Given the description of an element on the screen output the (x, y) to click on. 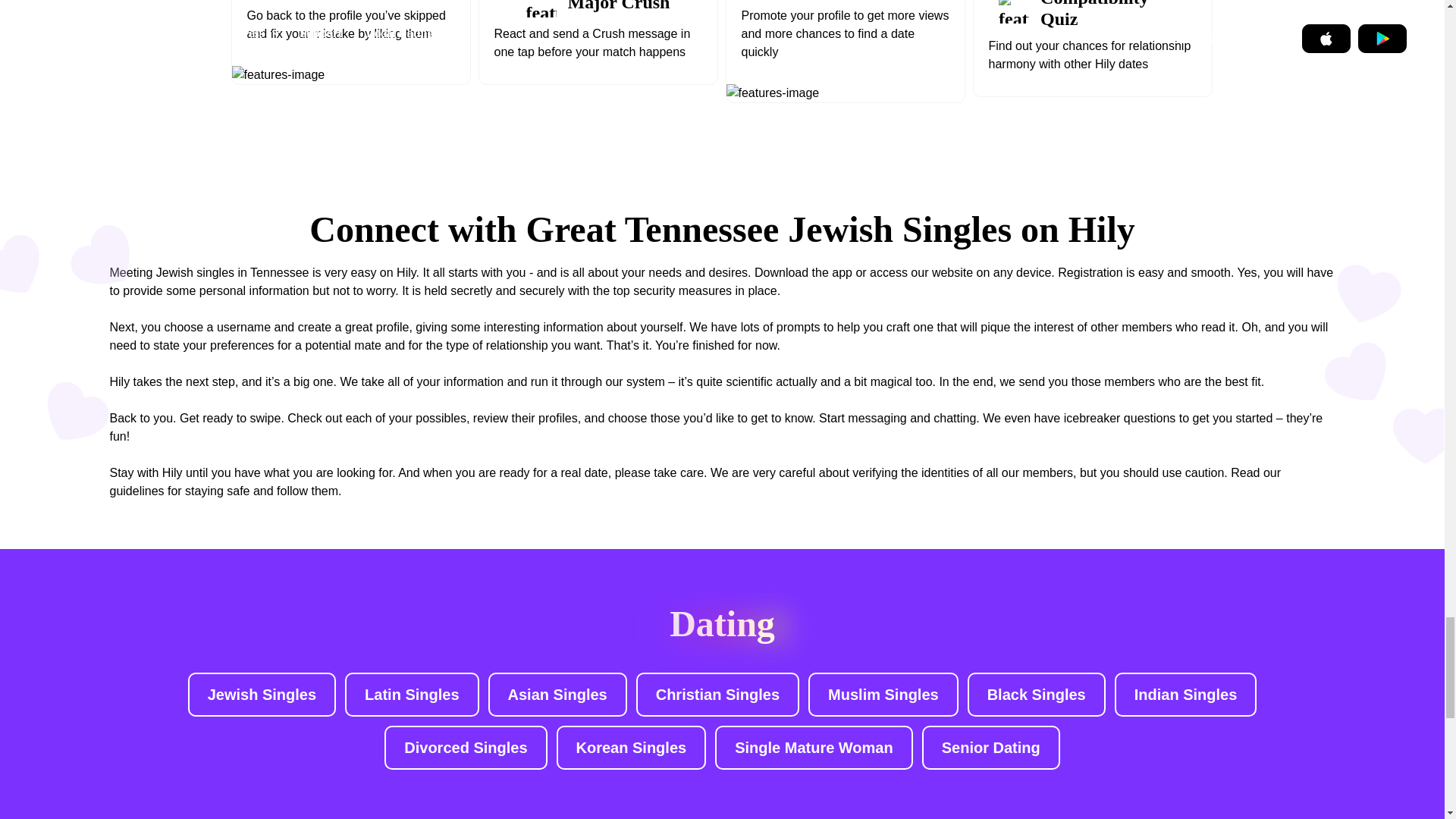
Christian Singles (717, 694)
Asian Singles (557, 694)
Latin Singles (412, 694)
Jewish Singles (261, 694)
Muslim Singles (883, 694)
Black Singles (1036, 694)
